Given the description of an element on the screen output the (x, y) to click on. 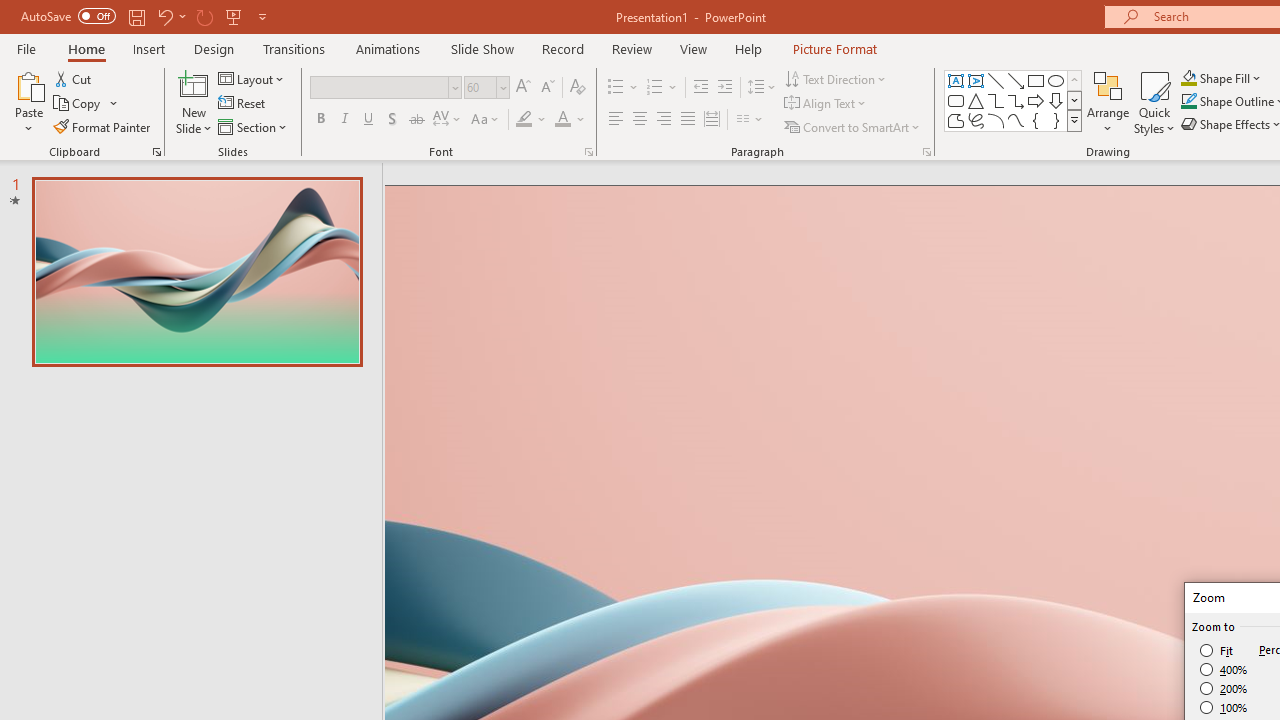
Font (379, 87)
Shape Outline Blue, Accent 1 (1188, 101)
Right Brace (1055, 120)
Copy (85, 103)
Align Right (663, 119)
New Slide (193, 84)
Italic (344, 119)
Decrease Font Size (547, 87)
Picture Format (834, 48)
Text Box (955, 80)
Shapes (1074, 120)
Row up (1074, 79)
Vertical Text Box (975, 80)
